Given the description of an element on the screen output the (x, y) to click on. 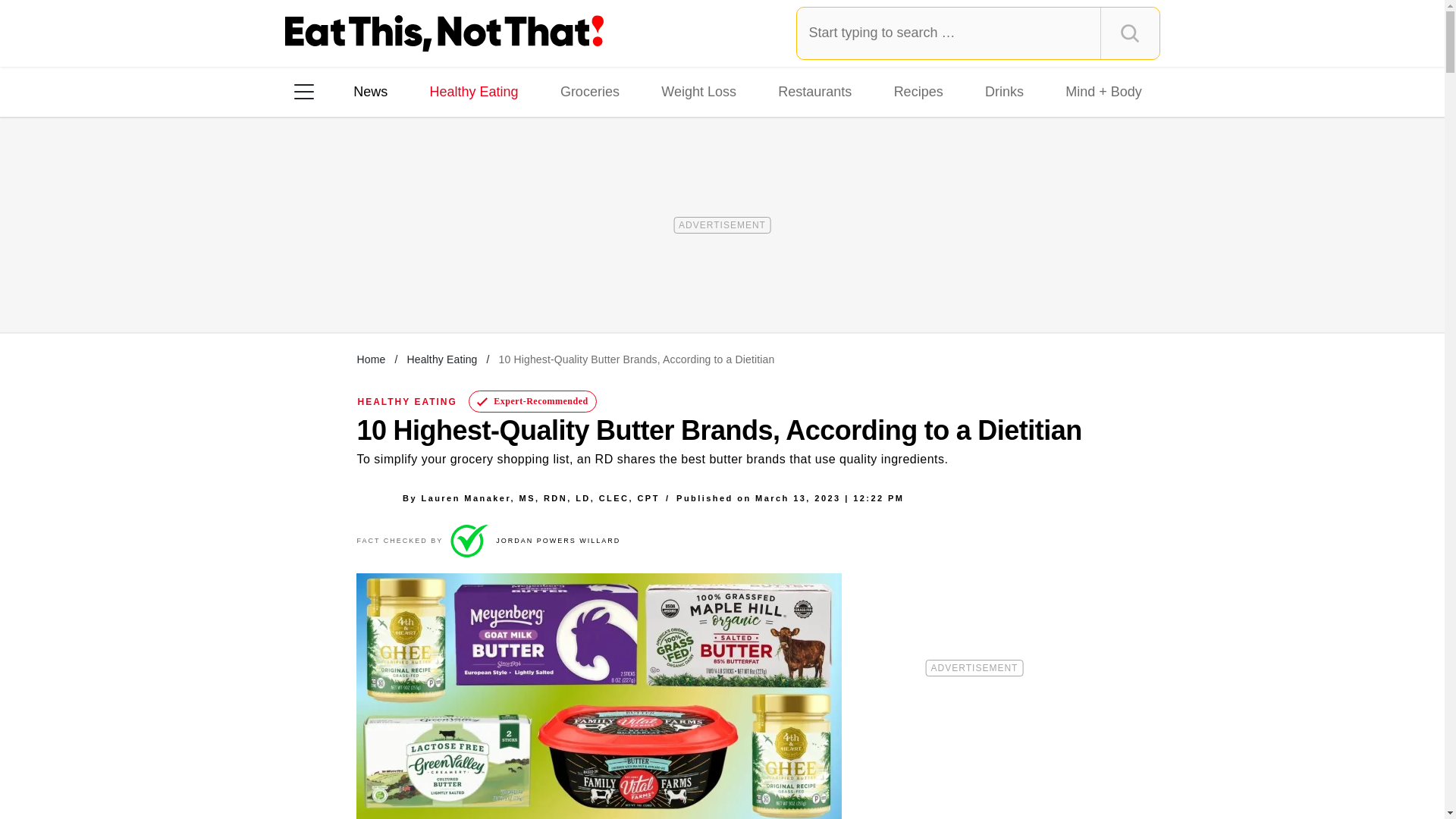
Drinks (1003, 91)
Eat This Not That Homepage (444, 33)
Healthy Eating (441, 358)
Posts by Lauren Manaker, MS, RDN, LD, CLEC, CPT (539, 497)
Home (370, 358)
Facebook (314, 287)
Pinterest (443, 287)
News (370, 91)
Weight Loss (698, 91)
HEALTHY EATING (407, 401)
